Given the description of an element on the screen output the (x, y) to click on. 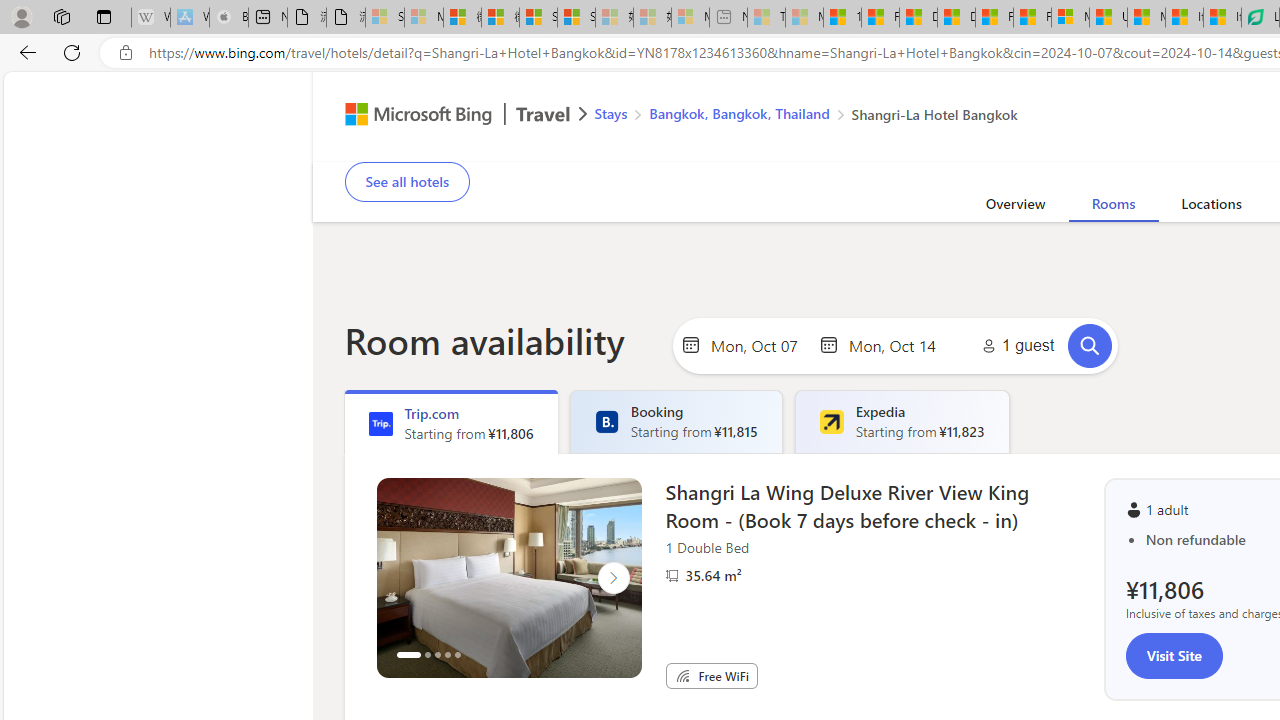
Class: msft-bing-logo msft-bing-logo-desktop (413, 114)
Click to scroll right (612, 578)
Valet parking (1008, 148)
Microsoft Bing (410, 116)
Overview (1015, 207)
Rooms (1112, 207)
End date (897, 344)
US Heat Deaths Soared To Record High Last Year (1108, 17)
Free parking (856, 148)
Swimming pool (1249, 148)
Airport transportation (1089, 148)
